Given the description of an element on the screen output the (x, y) to click on. 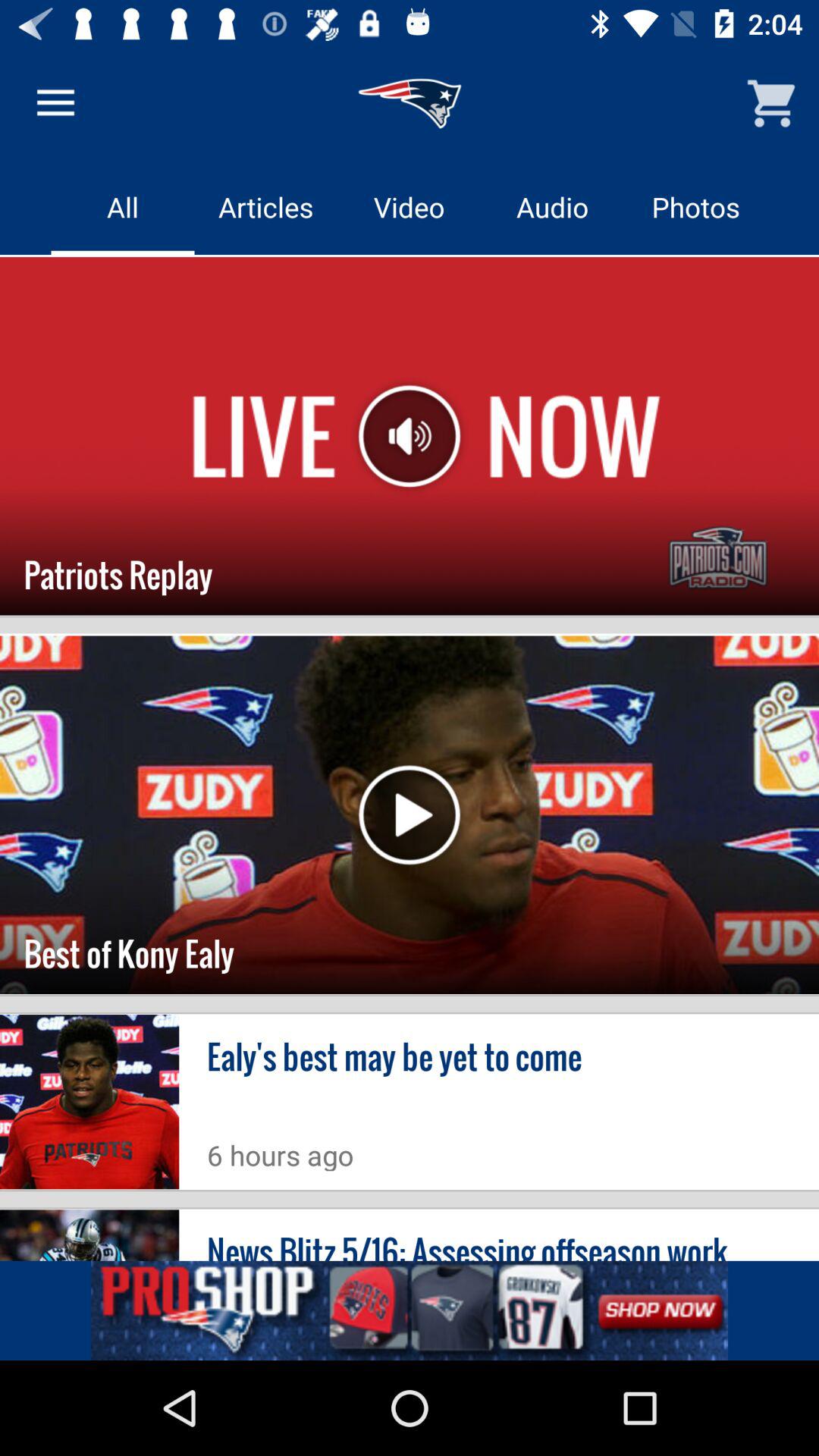
advertisement (409, 1310)
